Given the description of an element on the screen output the (x, y) to click on. 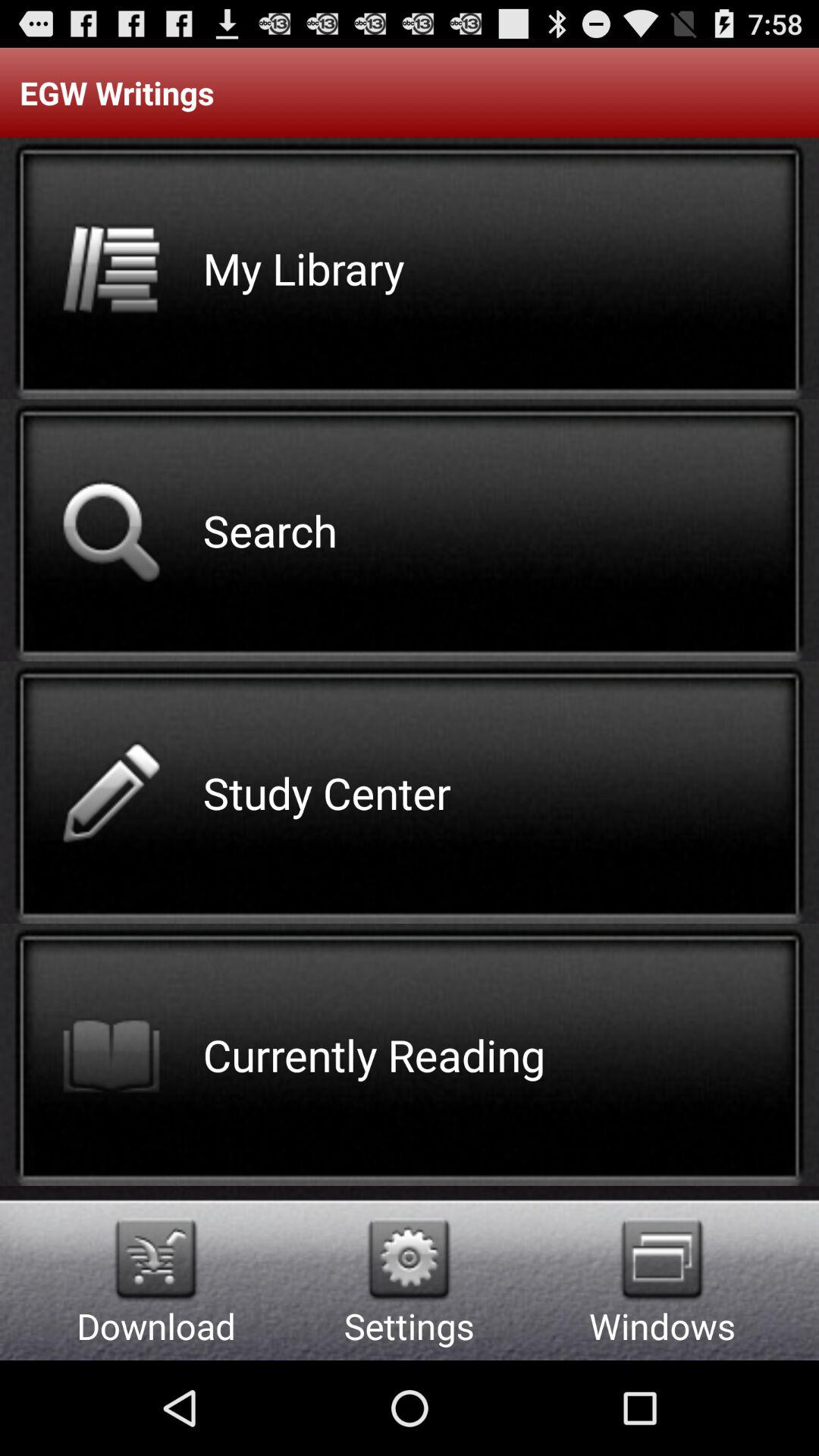
settings menu (409, 1258)
